Given the description of an element on the screen output the (x, y) to click on. 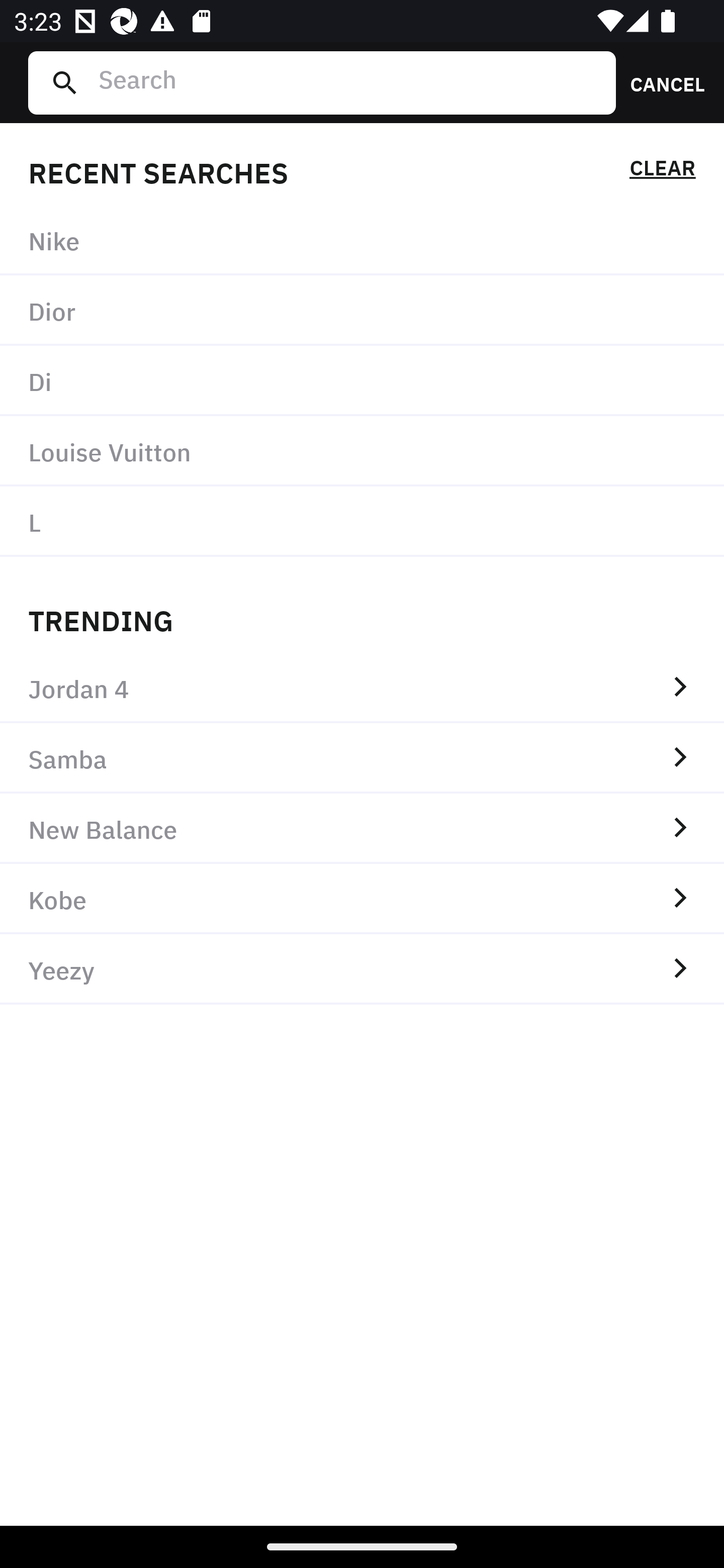
CANCEL (660, 82)
Search (349, 82)
CLEAR (662, 170)
Nike (362, 240)
Dior (362, 310)
Di (362, 380)
Louise Vuitton (362, 450)
L (362, 521)
Jordan 4  (362, 687)
Samba  (362, 757)
New Balance  (362, 828)
Kobe  (362, 898)
Yeezy  (362, 969)
